Given the description of an element on the screen output the (x, y) to click on. 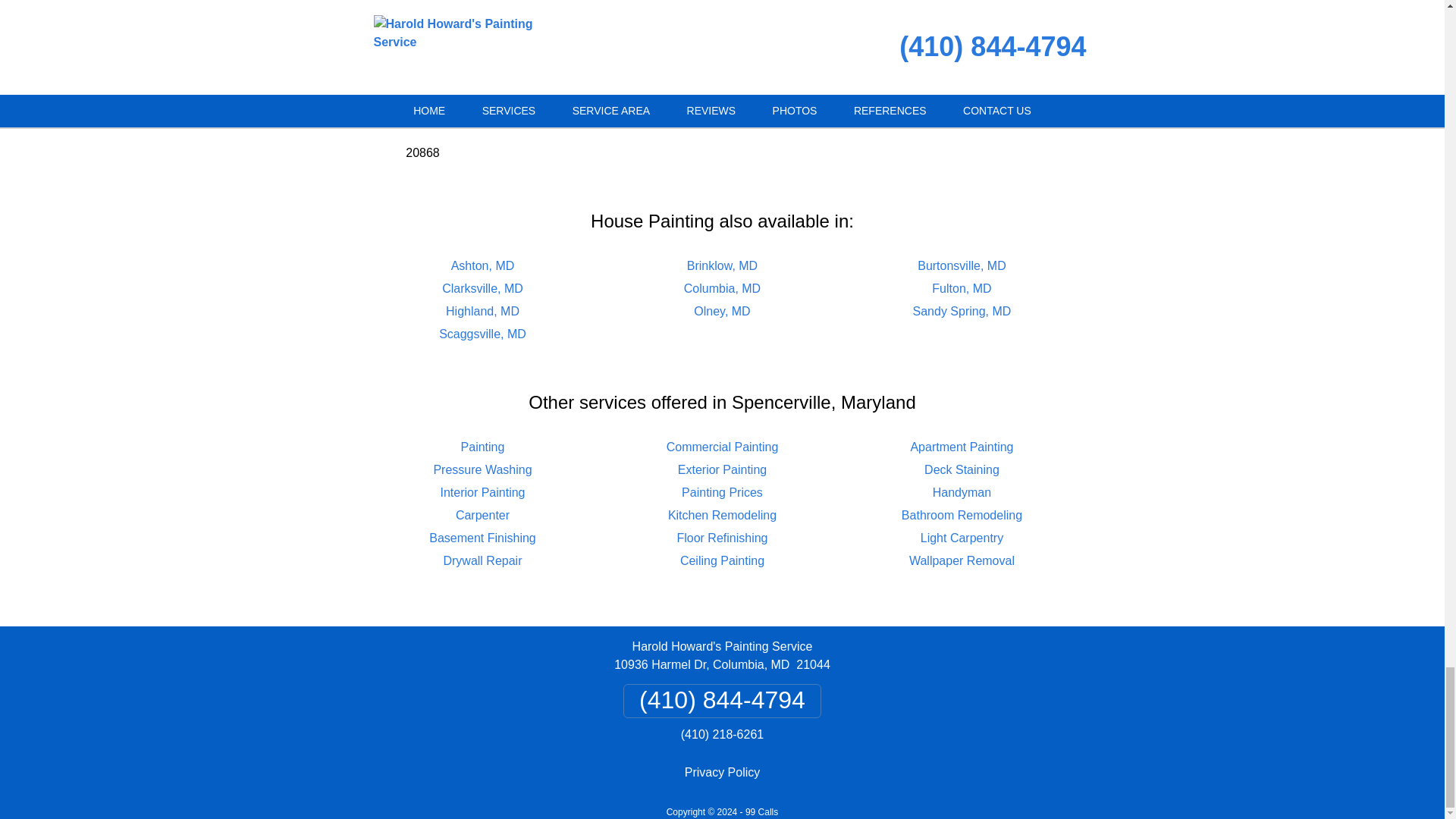
Better Business Bureau (721, 13)
